Given the description of an element on the screen output the (x, y) to click on. 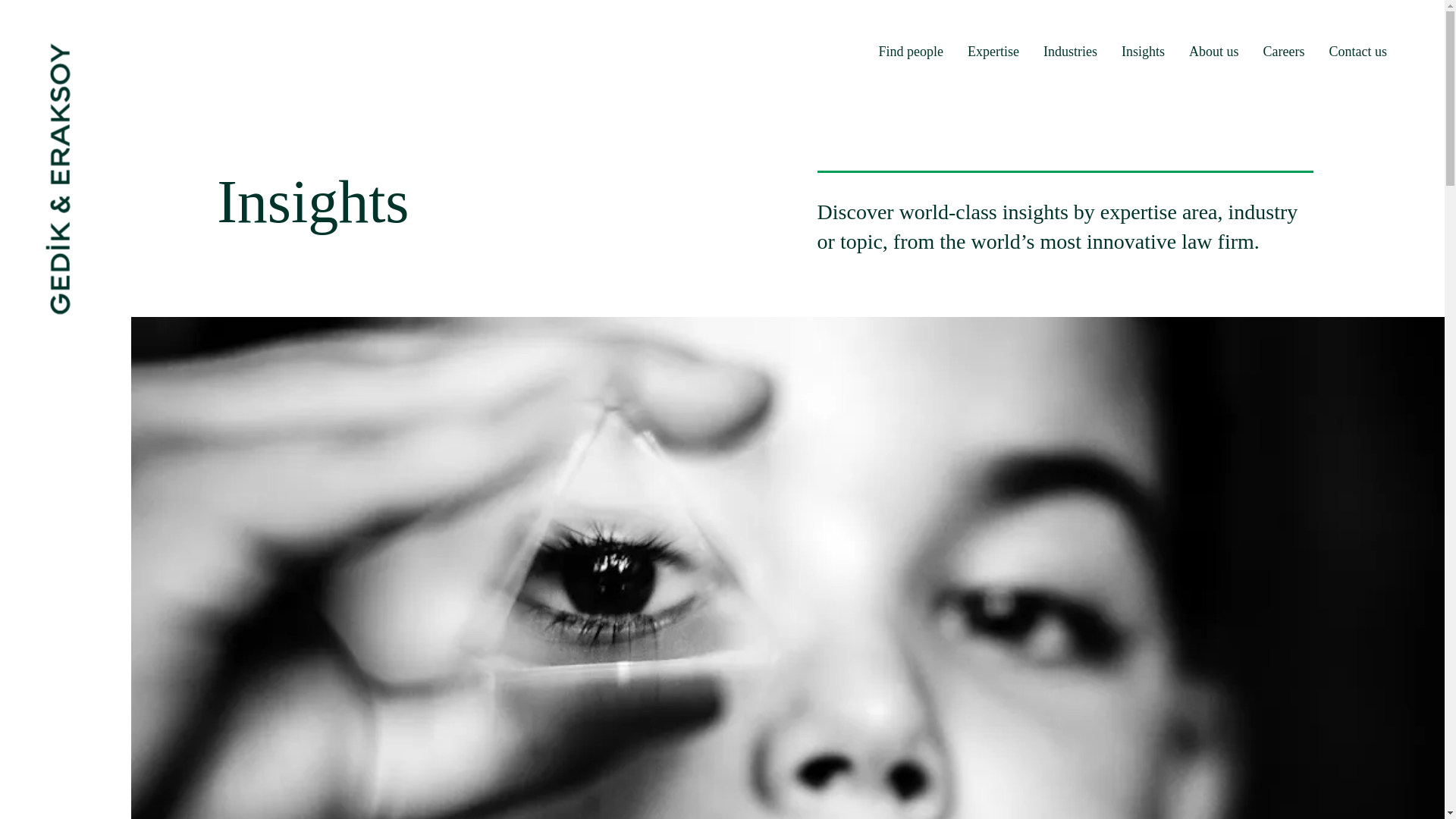
Industries (1070, 51)
Expertise (993, 51)
About us (1214, 51)
Contact us (1357, 51)
Find people (911, 51)
Insights (1142, 51)
Careers (1283, 51)
